Given the description of an element on the screen output the (x, y) to click on. 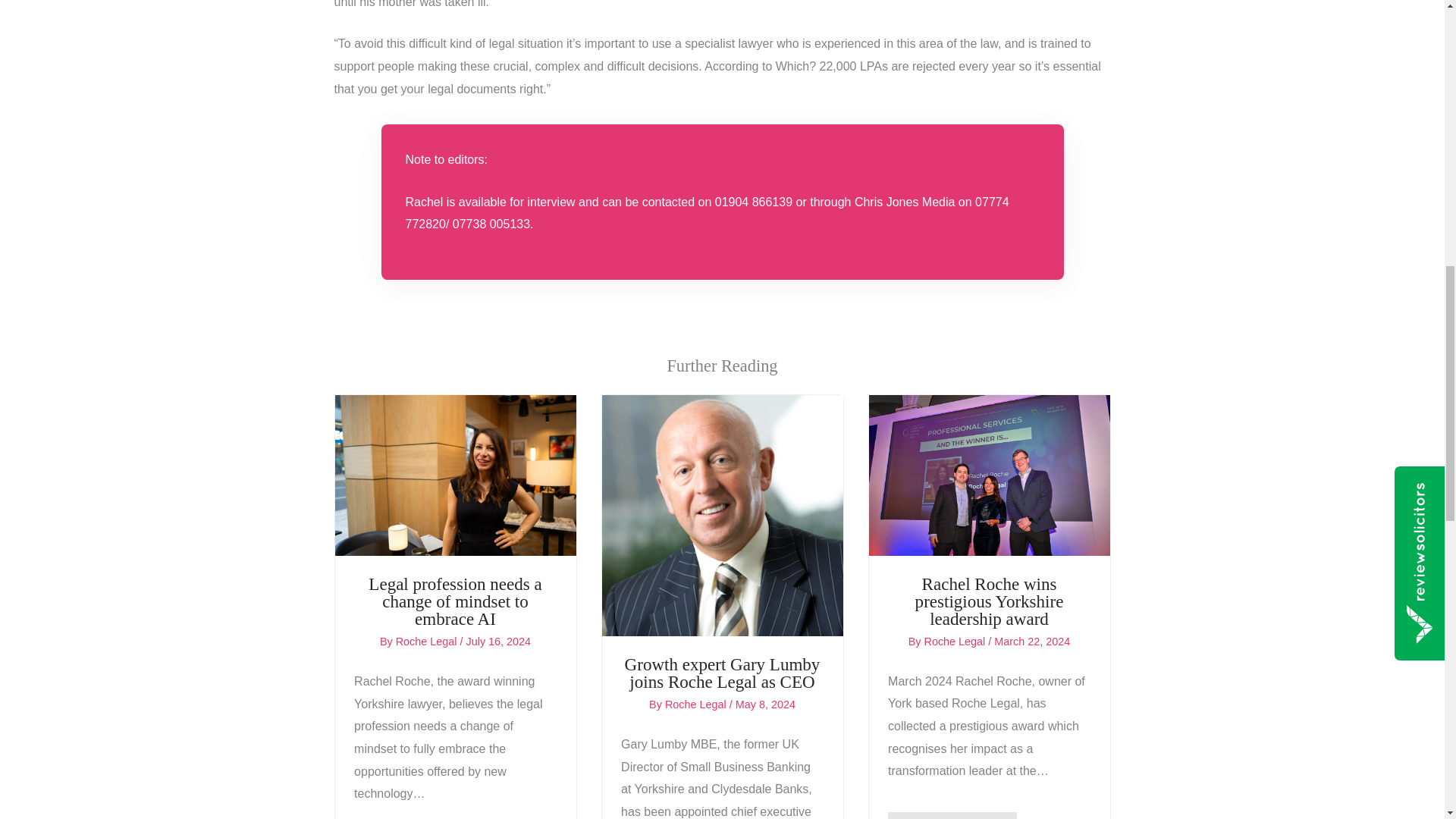
Legal profession needs a change of mindset to embrace AI 1 (455, 475)
Rachel Roche wins prestigious Yorkshire leadership award 3 (989, 475)
Growth expert Gary Lumby joins Roche Legal as CEO 2 (722, 515)
View all posts by Roche Legal (697, 704)
View all posts by Roche Legal (428, 641)
View all posts by Roche Legal (955, 641)
